Given the description of an element on the screen output the (x, y) to click on. 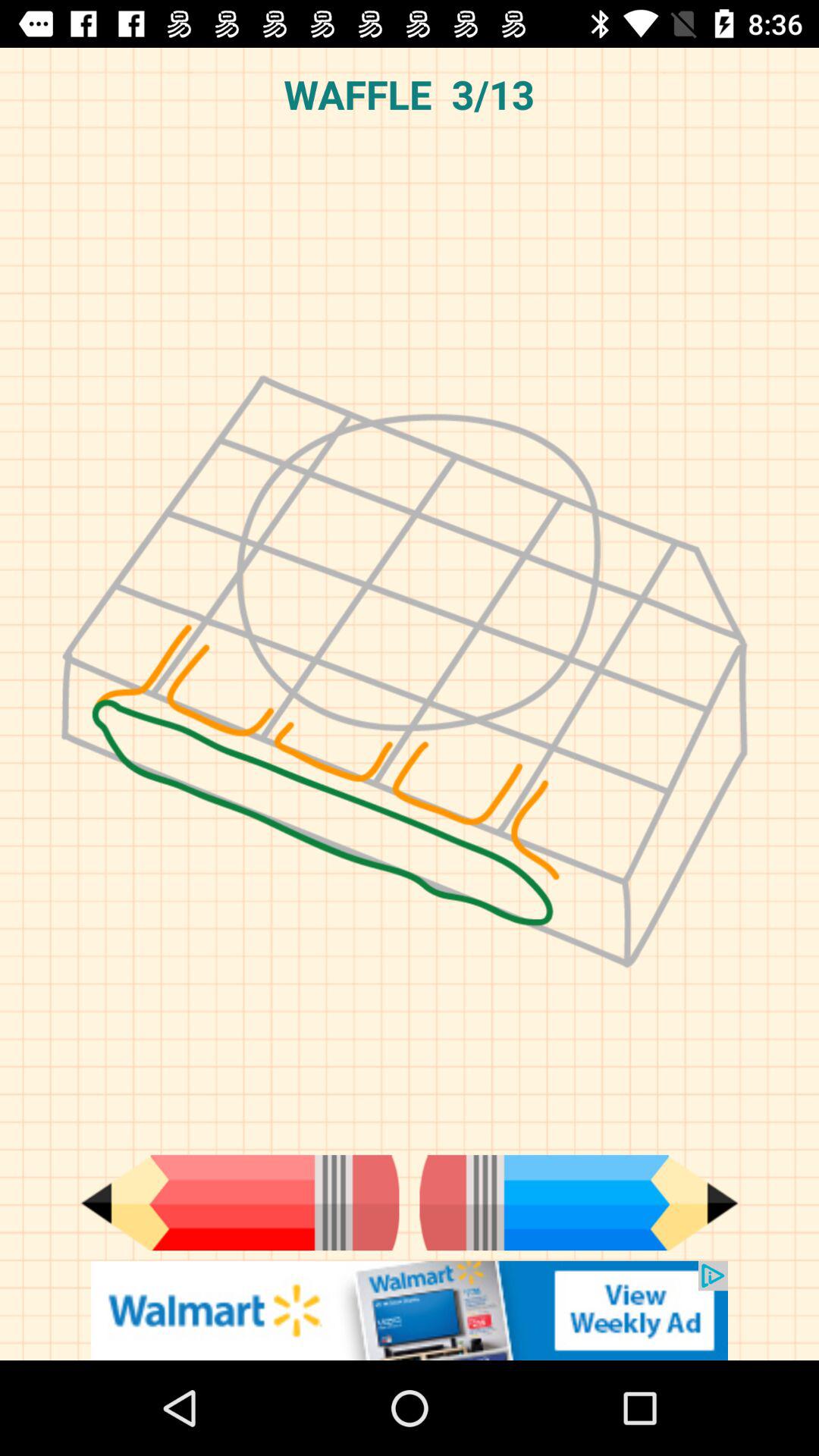
select walmart option (409, 1310)
